Given the description of an element on the screen output the (x, y) to click on. 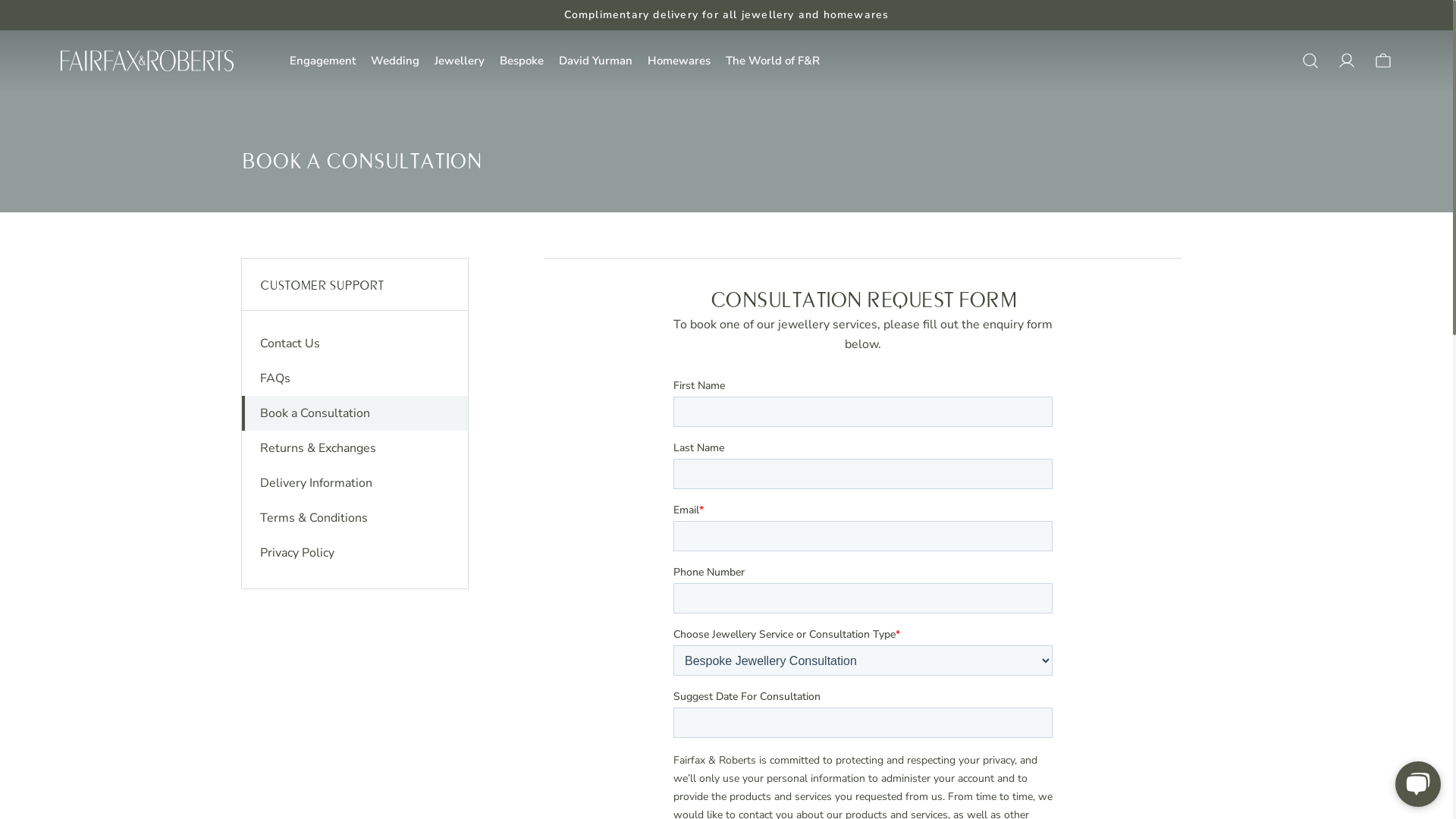
Homewares Element type: text (678, 60)
Returns & Exchanges Element type: text (318, 447)
Jewellery Element type: text (459, 60)
Account Dashboard Element type: hover (1346, 60)
Fairfax & Roberts Element type: hover (146, 60)
FAQs Element type: text (275, 378)
Contact Us Element type: text (290, 343)
Complimentary delivery for all jewellery and homewares Element type: text (726, 14)
The World of F&R Element type: text (772, 60)
Wedding Element type: text (394, 60)
Engagement Element type: text (322, 60)
Privacy Policy Element type: text (297, 552)
Delivery Information Element type: text (316, 482)
Bespoke Element type: text (521, 60)
Terms & Conditions Element type: text (313, 517)
David Yurman Element type: text (595, 60)
